Given the description of an element on the screen output the (x, y) to click on. 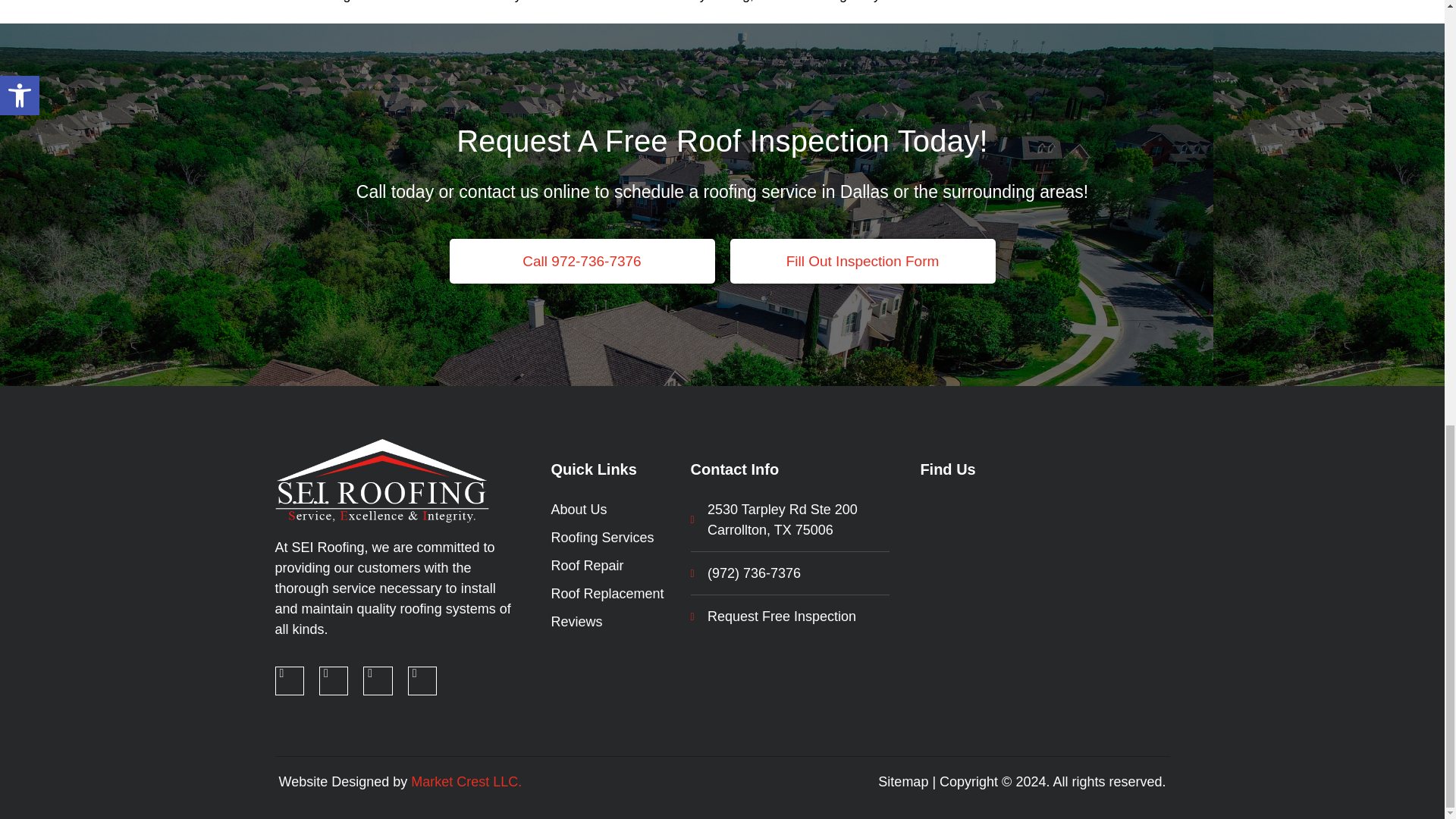
 2530 Tarpley Rd Ste 200 Carrollton, TX 75006 (1044, 555)
